Given the description of an element on the screen output the (x, y) to click on. 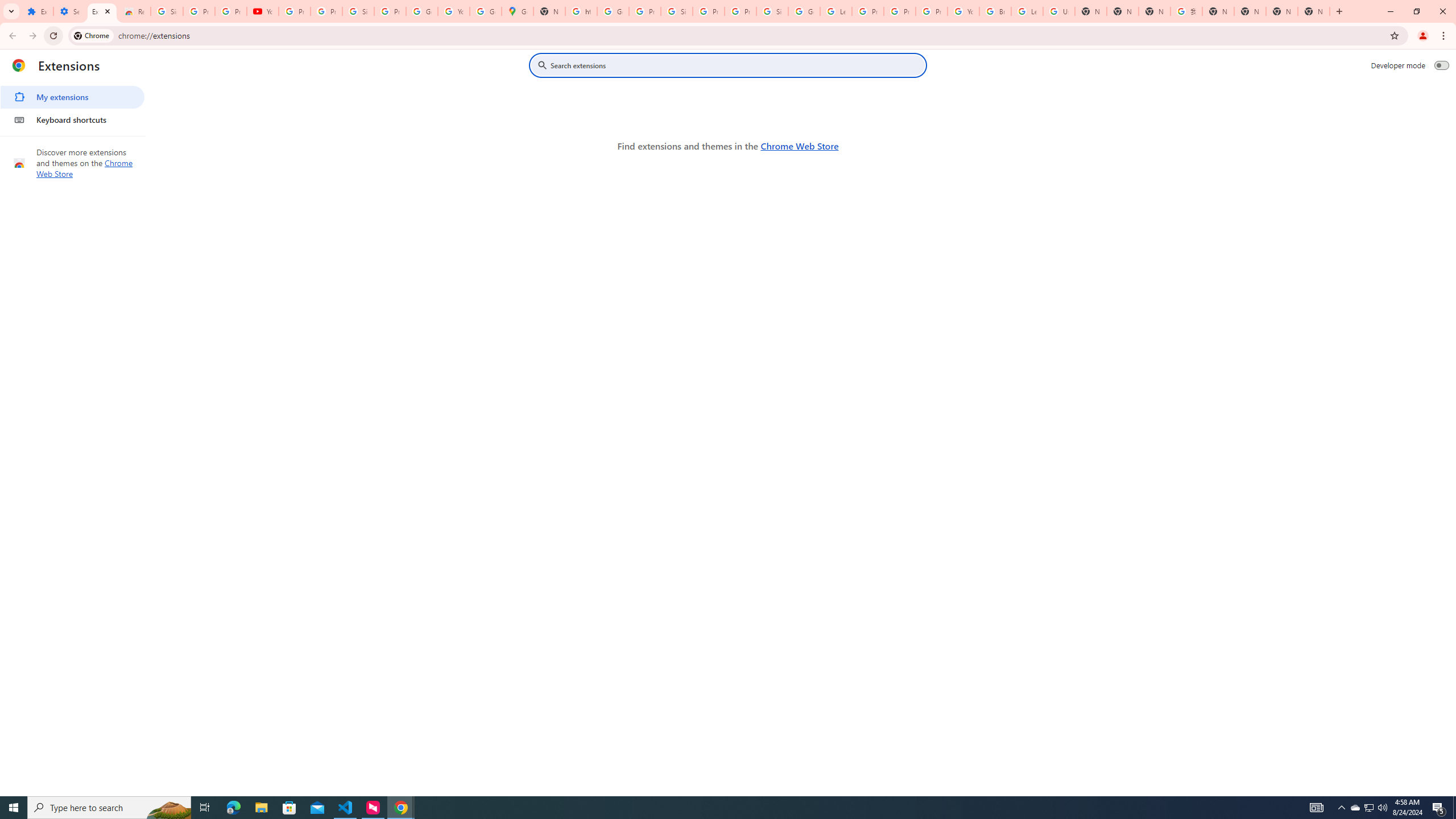
Sign in - Google Accounts (772, 11)
Sign in - Google Accounts (676, 11)
New Tab (1313, 11)
Search extensions (735, 65)
Sign in - Google Accounts (166, 11)
YouTube (453, 11)
https://scholar.google.com/ (581, 11)
My extensions (72, 96)
Developer mode (1442, 64)
